Given the description of an element on the screen output the (x, y) to click on. 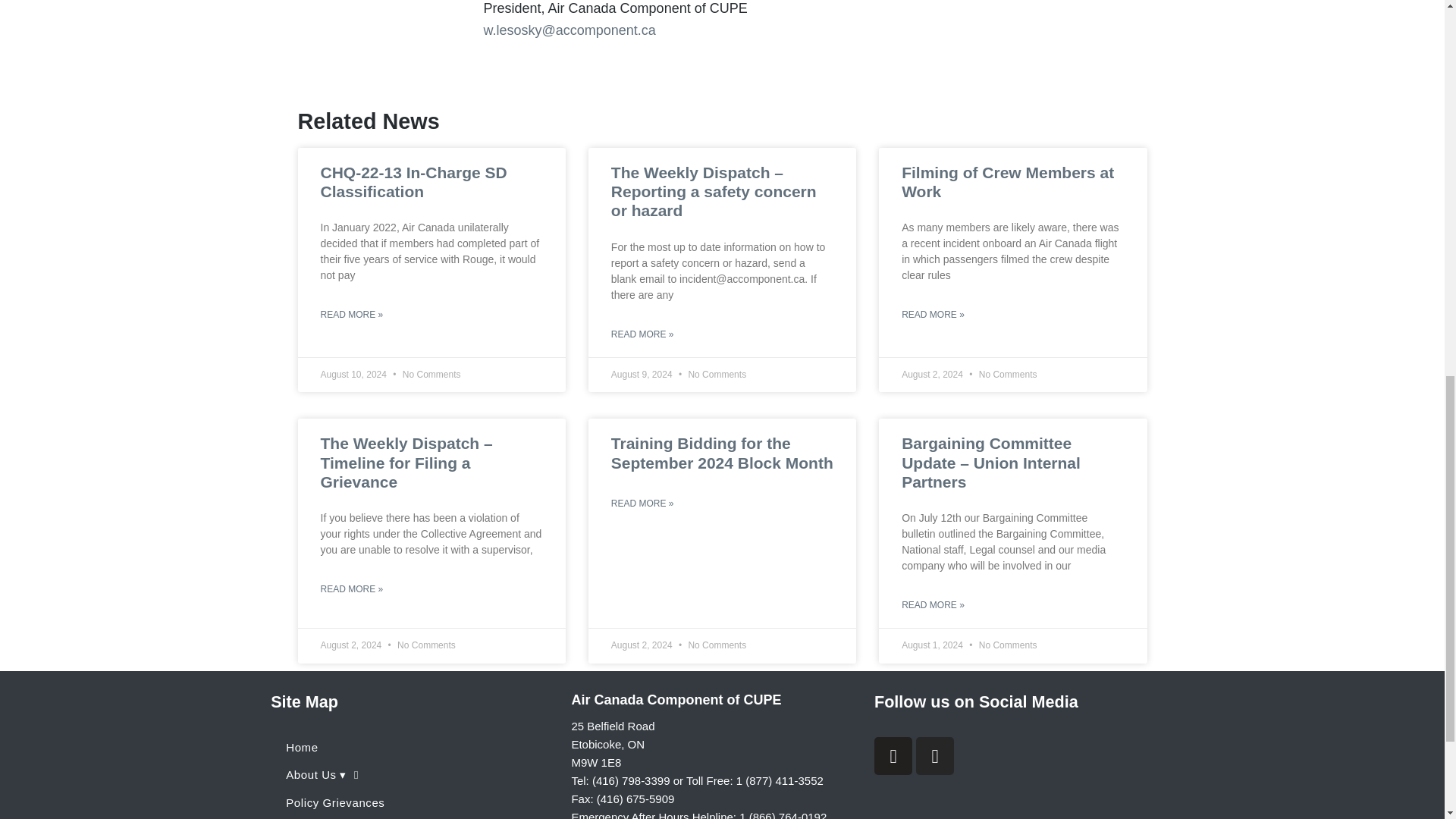
Training Bidding for the September 2024 Block Month (721, 452)
Filming of Crew Members at Work (1007, 181)
Policy Grievances (413, 802)
Committees (413, 816)
CHQ-22-13 In-Charge SD Classification (413, 181)
Home (413, 747)
